Given the description of an element on the screen output the (x, y) to click on. 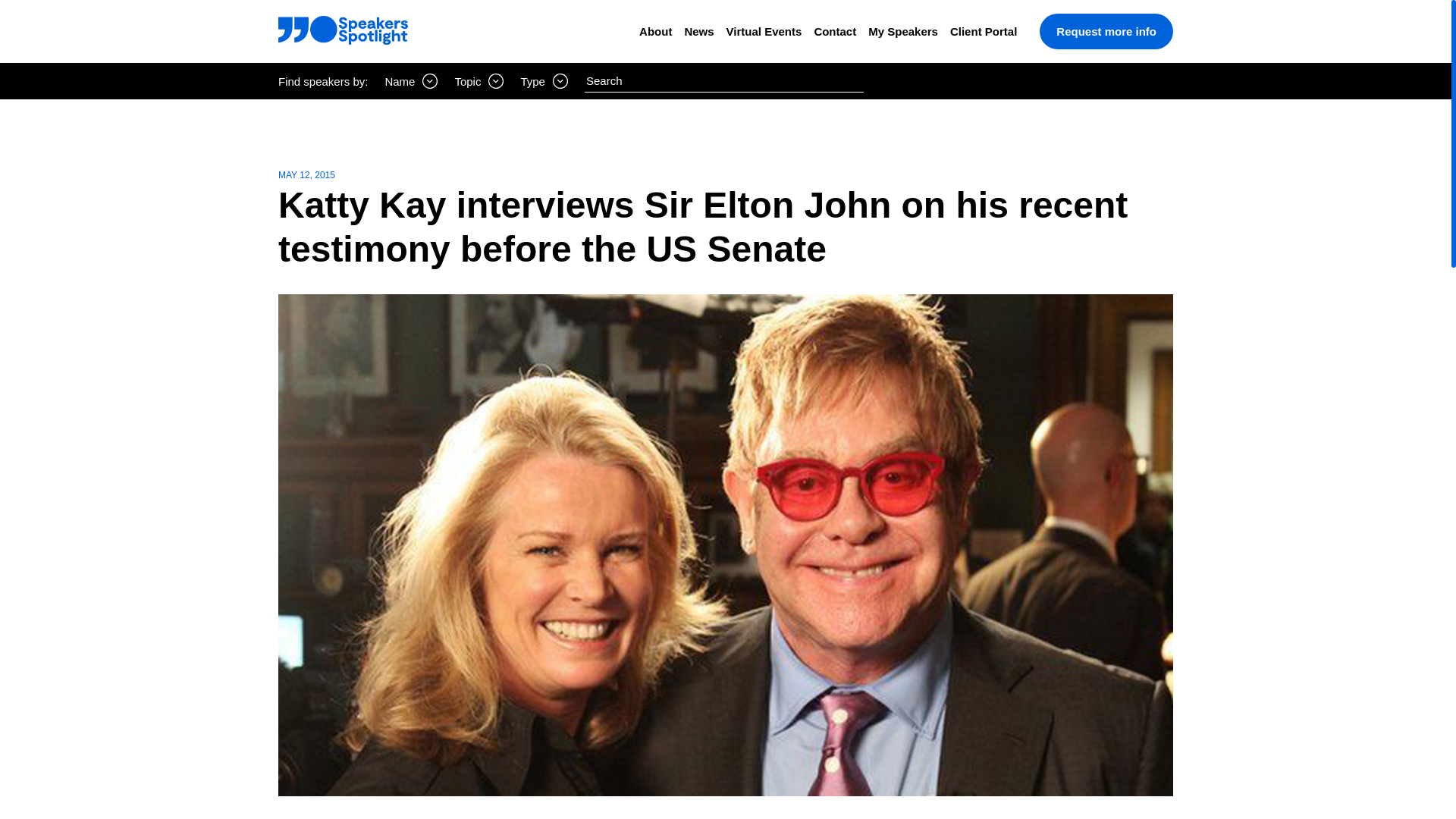
Request more info (1106, 31)
My Speakers (902, 31)
Virtual Events (764, 31)
Client Portal (983, 31)
Name (411, 80)
About (655, 31)
Contact (834, 31)
